Given the description of an element on the screen output the (x, y) to click on. 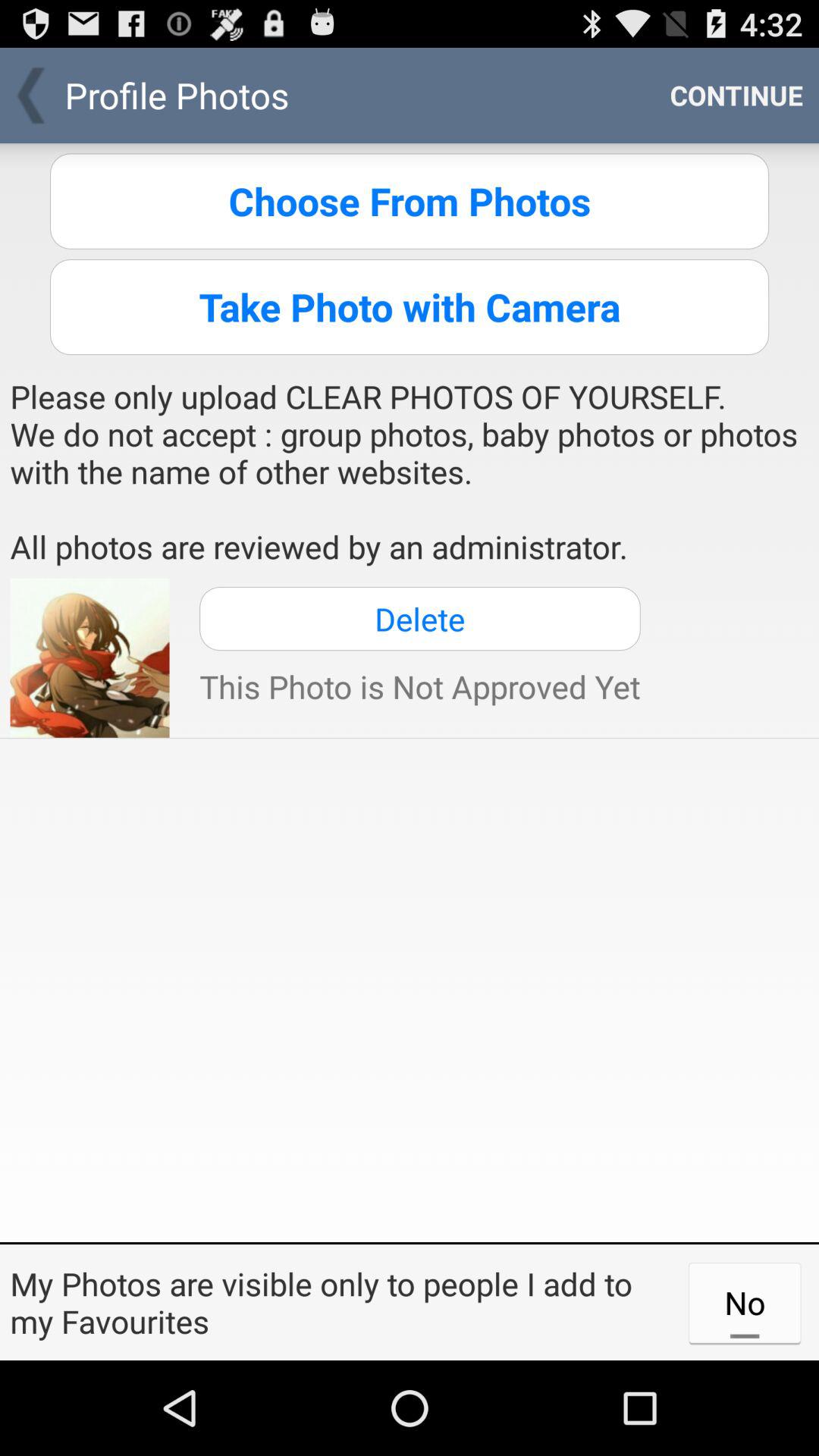
click on the text take photo with camera (409, 307)
go to first option (409, 201)
